Given the description of an element on the screen output the (x, y) to click on. 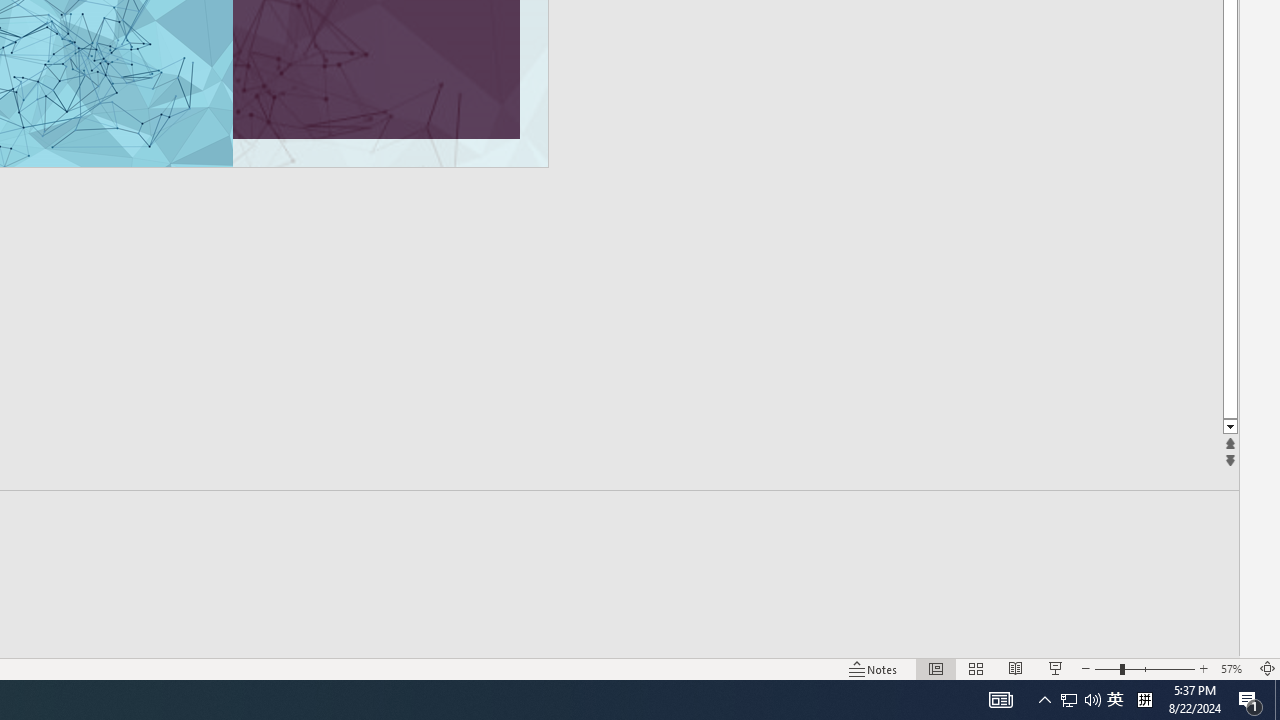
Zoom 57% (1234, 668)
